Given the description of an element on the screen output the (x, y) to click on. 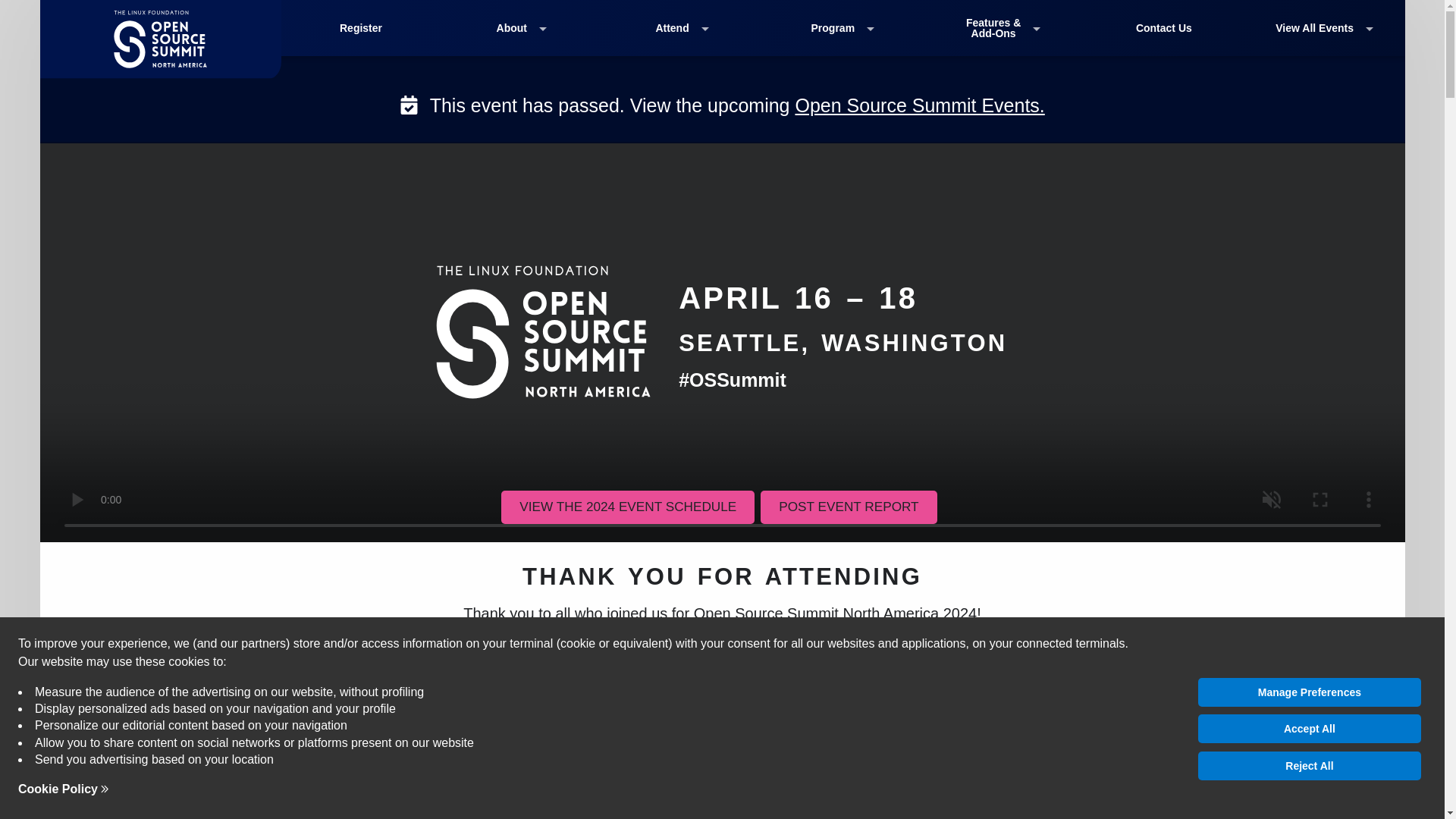
Register (361, 28)
View All Events (1324, 28)
VIEW THE 2024 EVENT SCHEDULE (627, 507)
Reject All (1309, 765)
Contact Us (1163, 28)
Open Source Summit Events. (918, 105)
Program (842, 28)
About (521, 28)
Accept All (1309, 728)
POST EVENT REPORT (848, 507)
Manage Preferences (1309, 692)
Attend (682, 28)
Cookie Policy (63, 789)
Skip to content (16, 10)
